Given the description of an element on the screen output the (x, y) to click on. 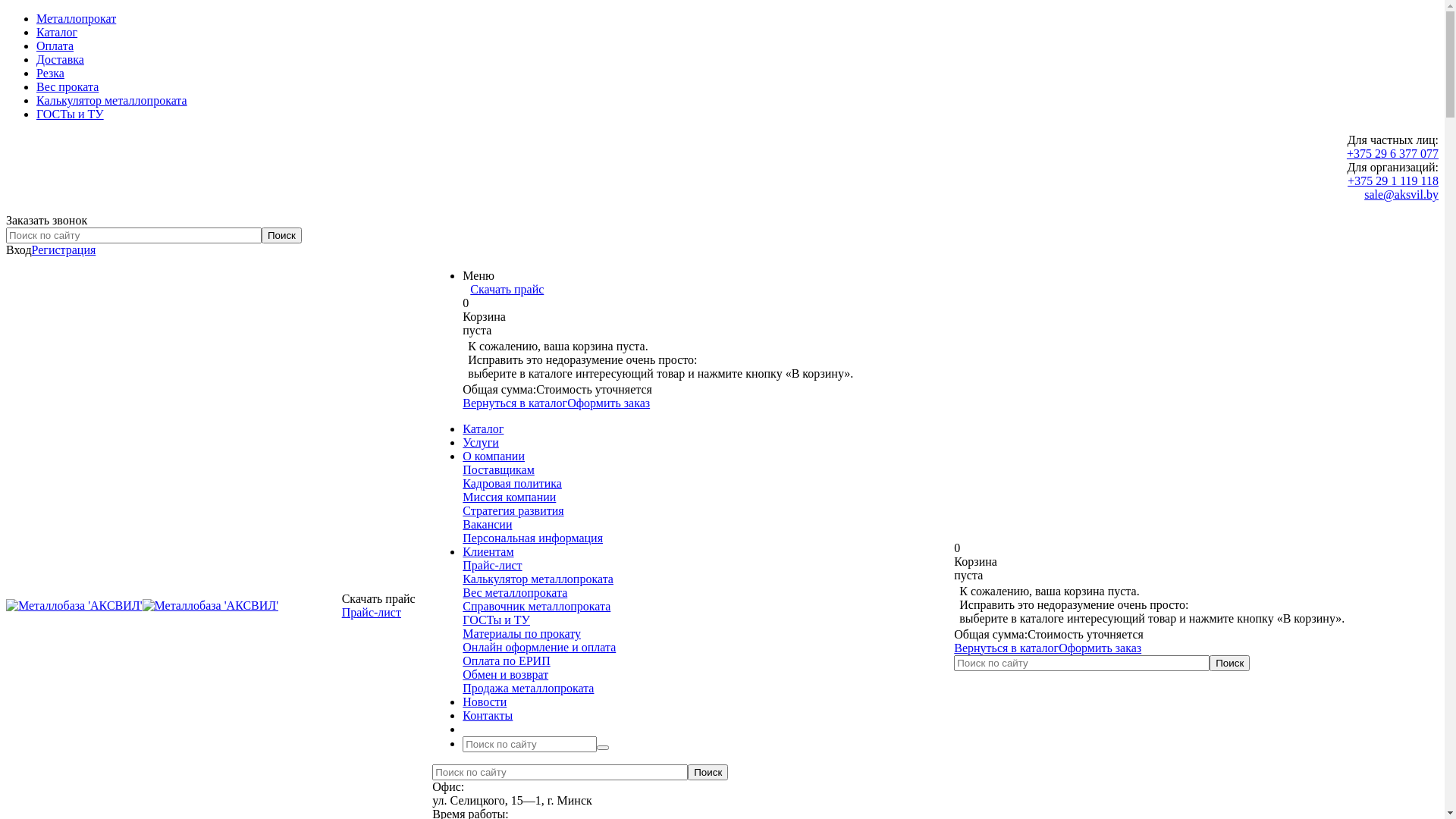
+375 29 1 119 118 Element type: text (1392, 180)
+375 29 6 377 077 Element type: text (1392, 153)
sale@aksvil.by Element type: text (1401, 194)
